Given the description of an element on the screen output the (x, y) to click on. 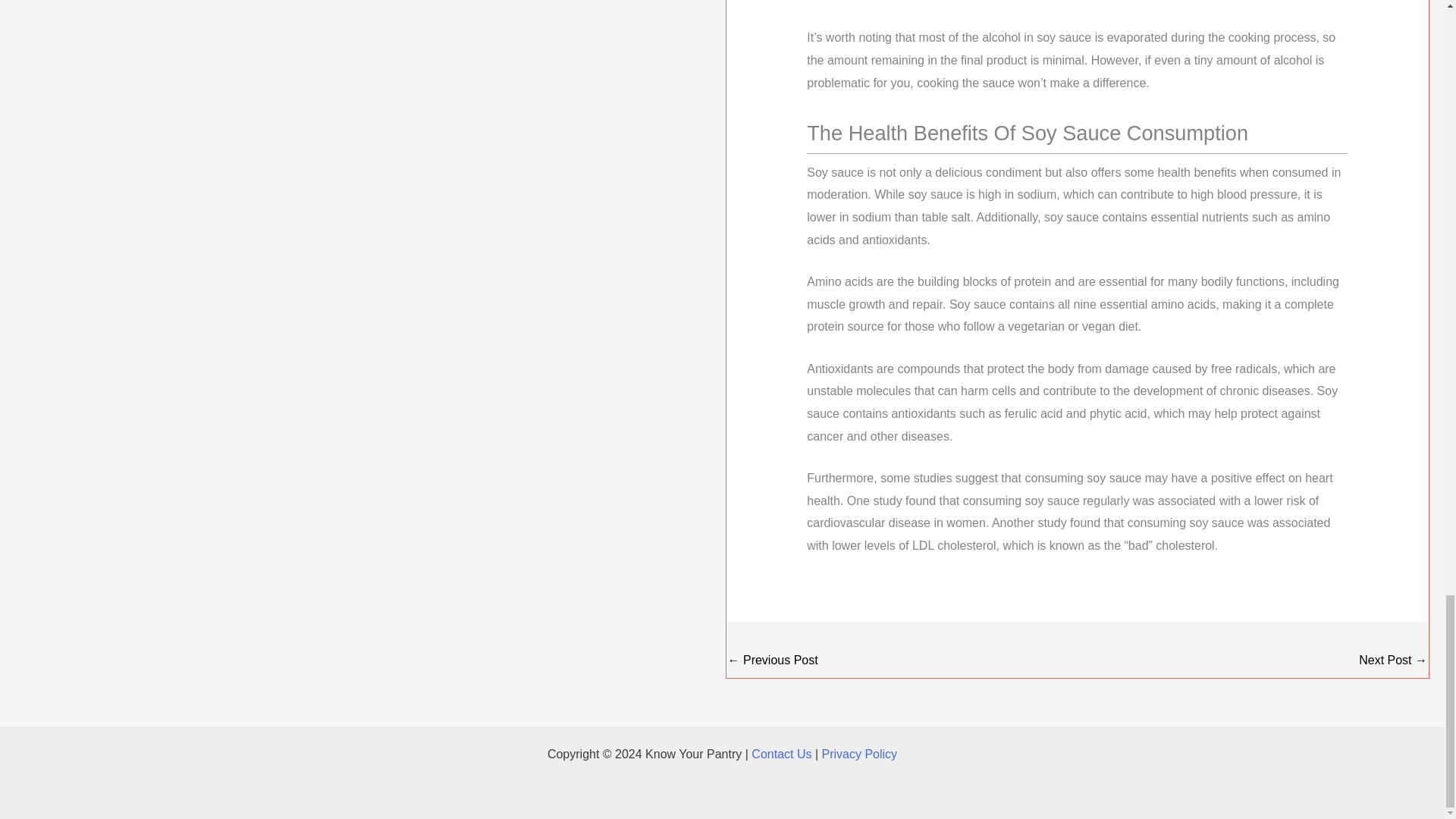
Privacy Policy (860, 753)
Why Is Homemade Oat Milk Watery? A Simple Guide (1392, 661)
Contact Us (780, 753)
Why Does Simple Syrup Get Moldy? An Expert's Guide (773, 661)
